Given the description of an element on the screen output the (x, y) to click on. 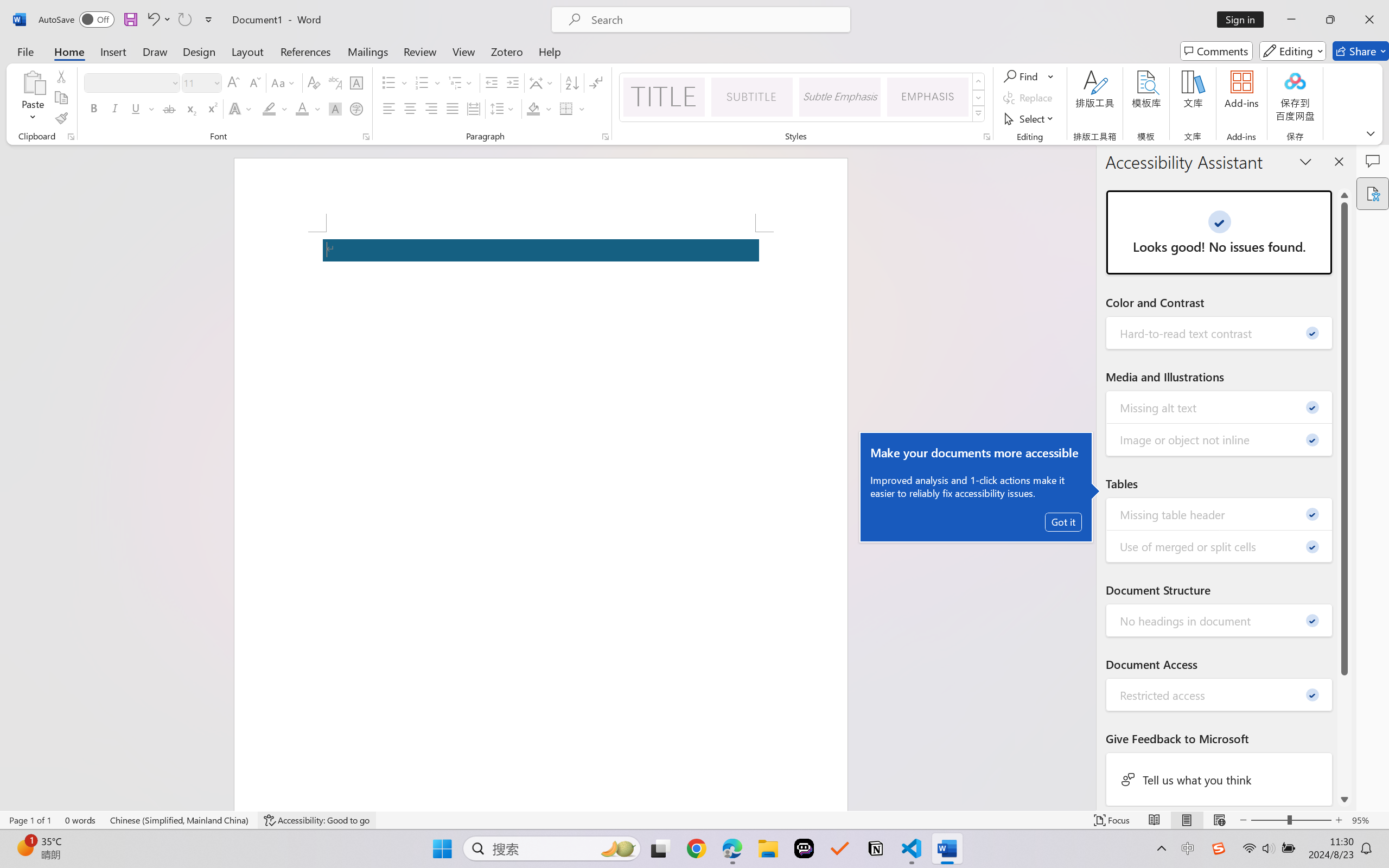
Text Highlight Color RGB(255, 255, 0) (269, 108)
